Given the description of an element on the screen output the (x, y) to click on. 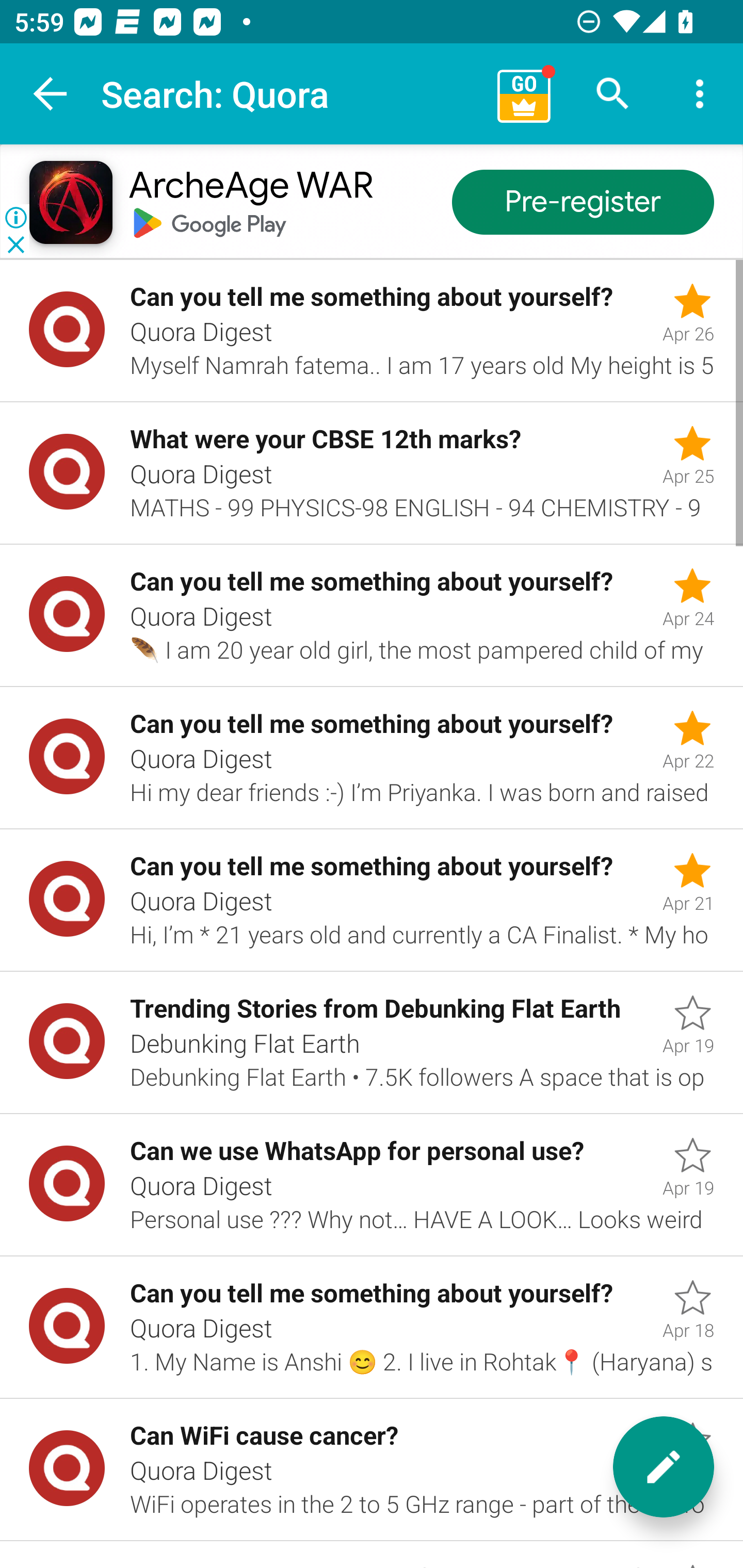
Navigate up (50, 93)
Search (612, 93)
More options (699, 93)
ArcheAge WAR (250, 186)
Pre-register (582, 202)
New message (663, 1466)
